Given the description of an element on the screen output the (x, y) to click on. 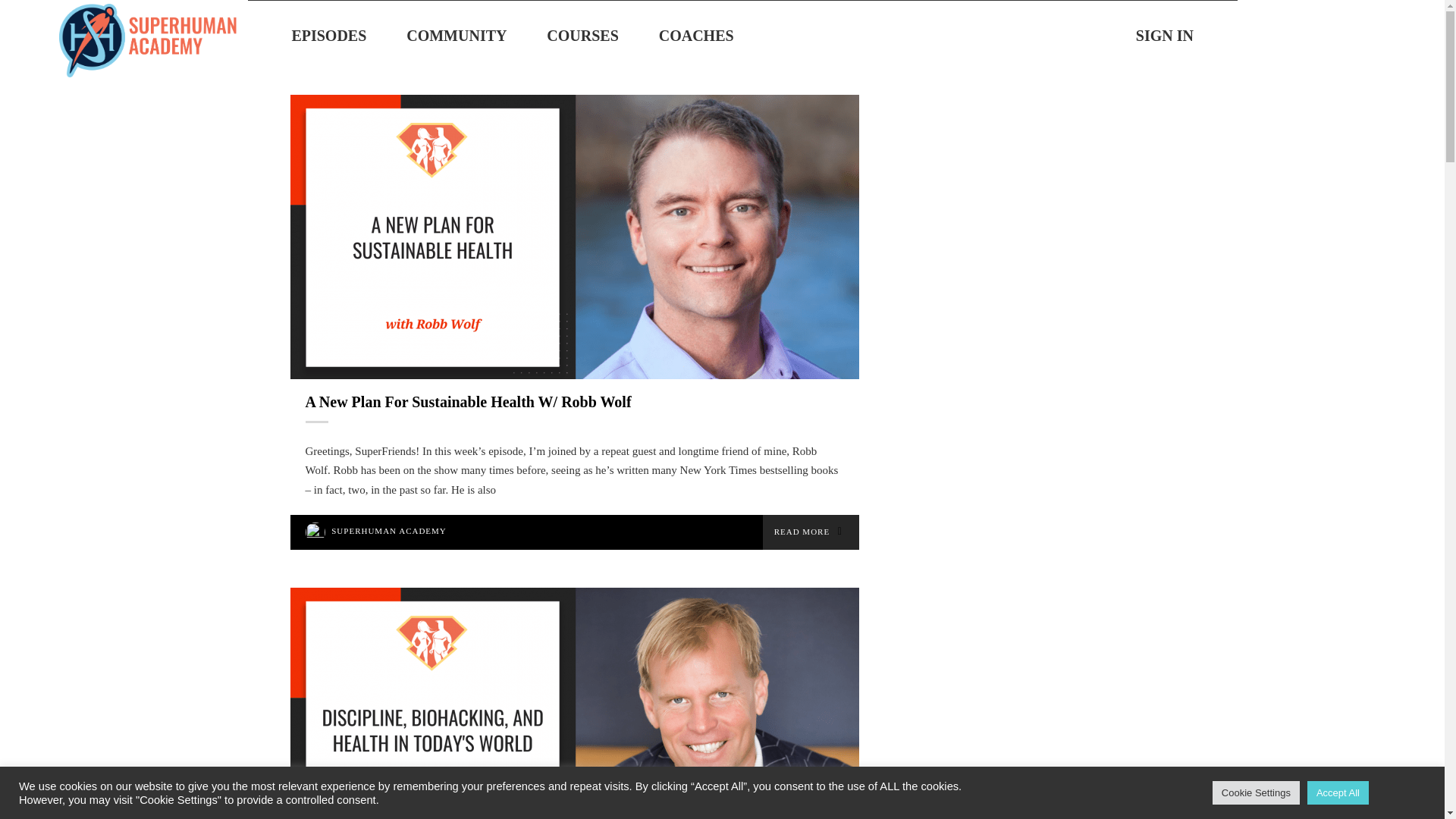
COACHES (695, 35)
View all posts by SuperHuman Academy (388, 530)
READ MORE (810, 532)
SUPERHUMAN ACADEMY (388, 530)
COURSES (582, 35)
COMMUNITY (455, 35)
SIGN IN (1164, 35)
EPISODES (328, 35)
